Given the description of an element on the screen output the (x, y) to click on. 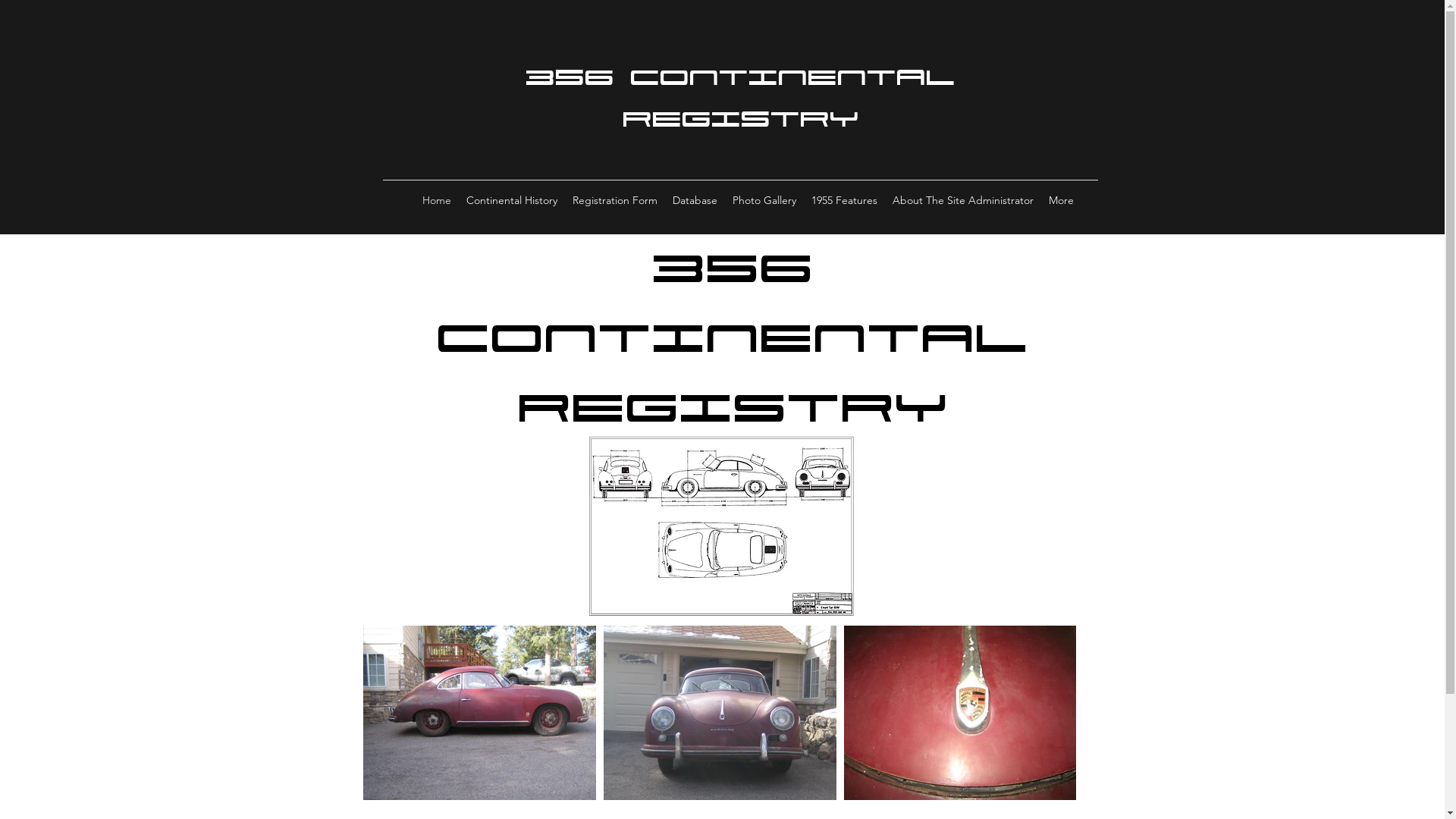
Home Element type: text (436, 199)
Continental History Element type: text (511, 199)
Database Element type: text (694, 199)
Registration Form Element type: text (614, 199)
Photo Gallery Element type: text (763, 199)
About The Site Administrator Element type: text (962, 199)
1955 Features Element type: text (843, 199)
